Given the description of an element on the screen output the (x, y) to click on. 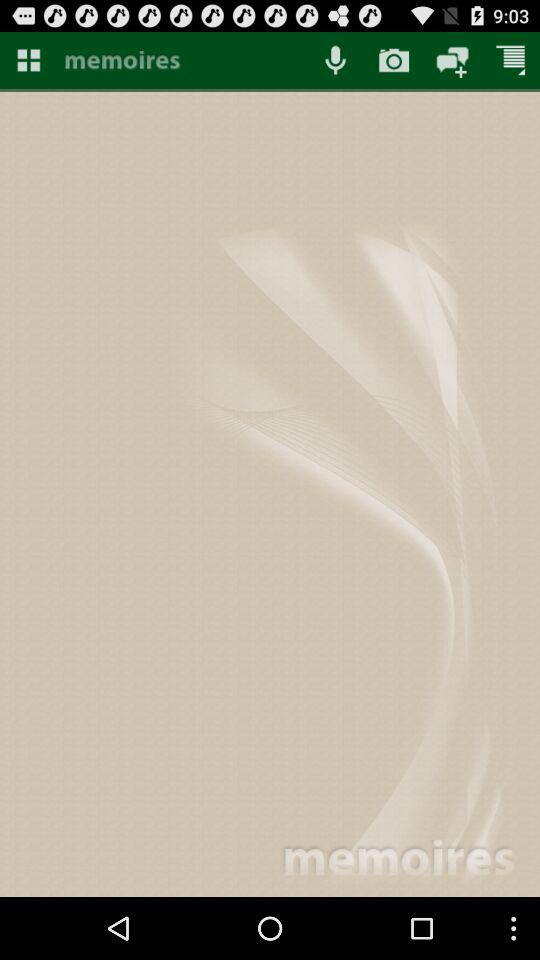
go to menu (28, 60)
